Given the description of an element on the screen output the (x, y) to click on. 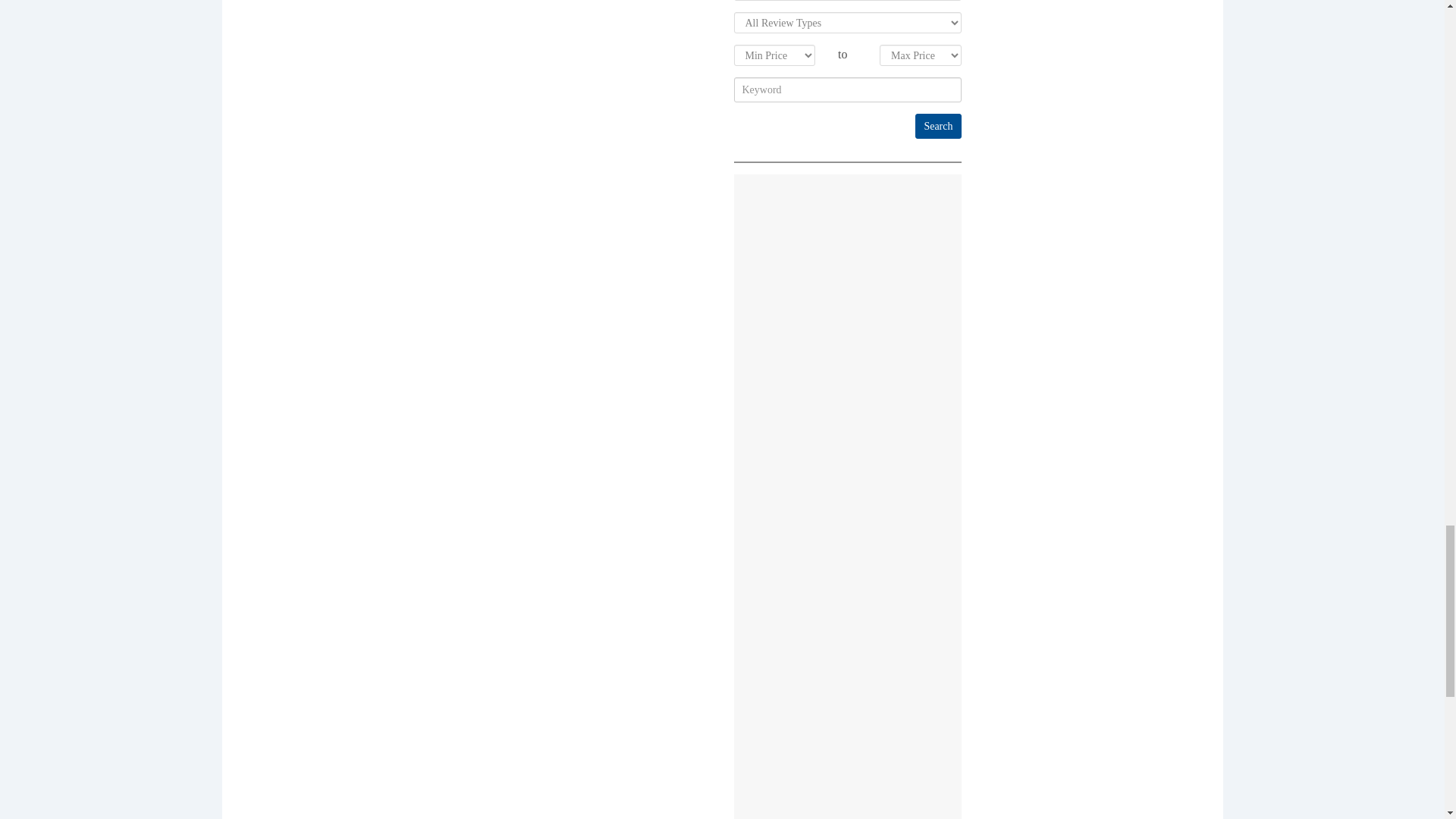
Search (937, 125)
